Given the description of an element on the screen output the (x, y) to click on. 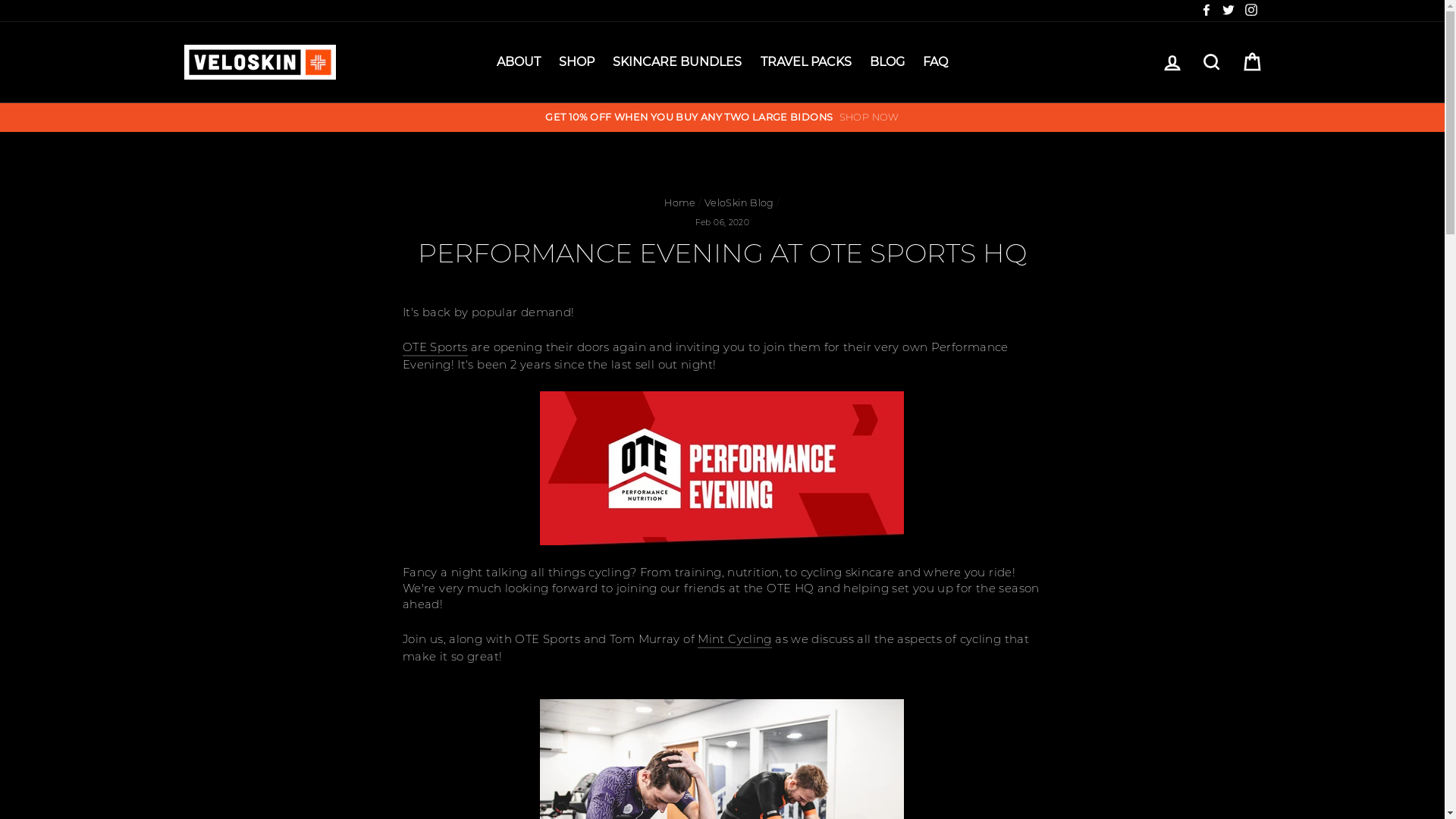
Home Element type: text (680, 202)
Facebook Element type: text (1206, 10)
CART Element type: text (1251, 61)
Twitter Element type: text (1228, 10)
ABOUT Element type: text (518, 61)
VeloSkin Blog Element type: text (739, 202)
Instagram Element type: text (1250, 10)
BLOG Element type: text (887, 61)
SHOP Element type: text (576, 61)
SKINCARE BUNDLES Element type: text (677, 61)
Skip to content Element type: text (0, 0)
TRAVEL PACKS Element type: text (806, 61)
FAQ Element type: text (935, 61)
Mint Cycling Element type: text (734, 639)
OTE Sports Element type: text (434, 347)
